Given the description of an element on the screen output the (x, y) to click on. 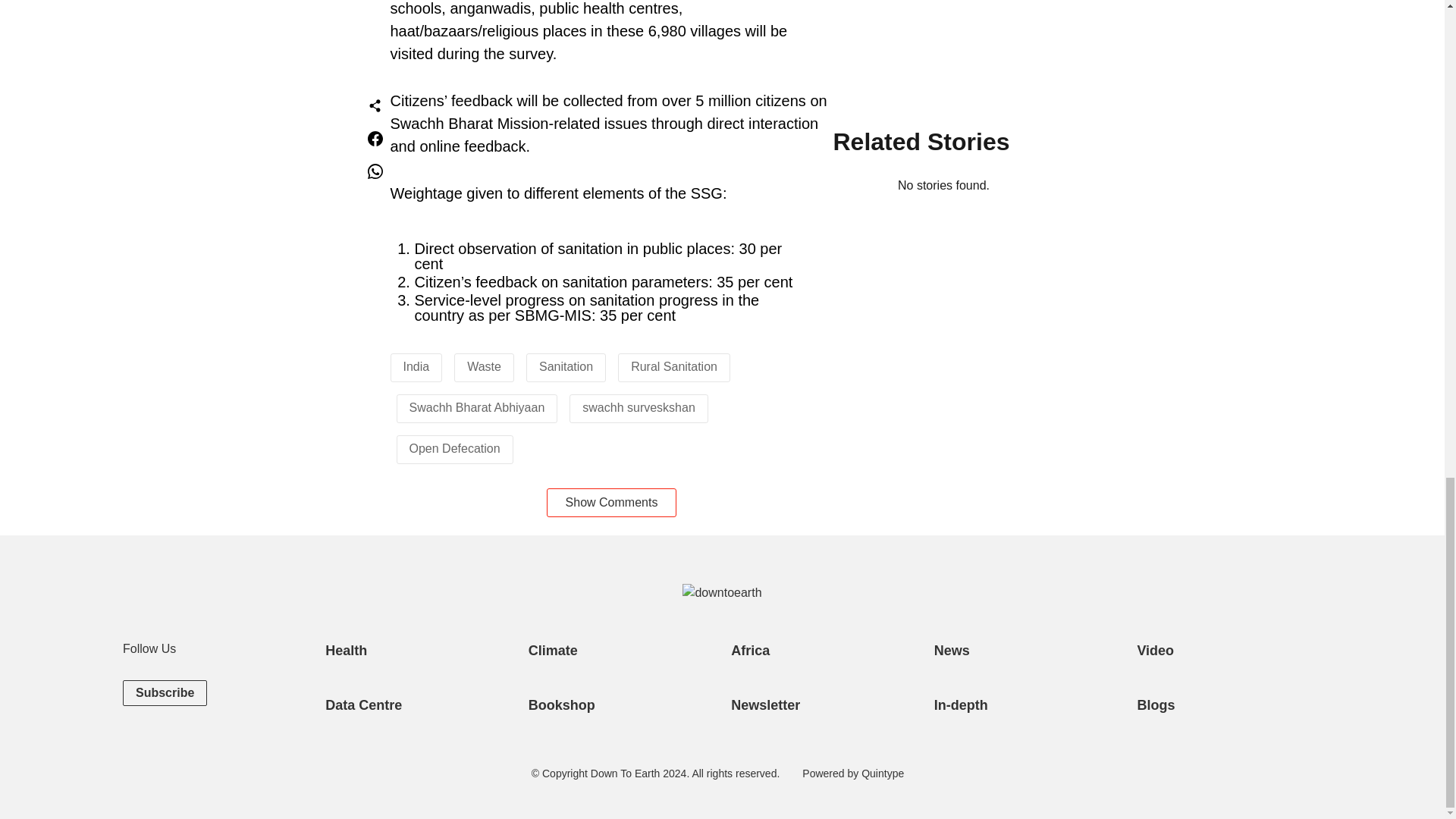
Show Comments (612, 501)
Rural Sanitation (673, 366)
Open Defecation (454, 448)
Sanitation (565, 366)
Swachh Bharat Abhiyaan (476, 407)
Waste (483, 366)
swachh surveskshan (638, 407)
India (416, 366)
